Given the description of an element on the screen output the (x, y) to click on. 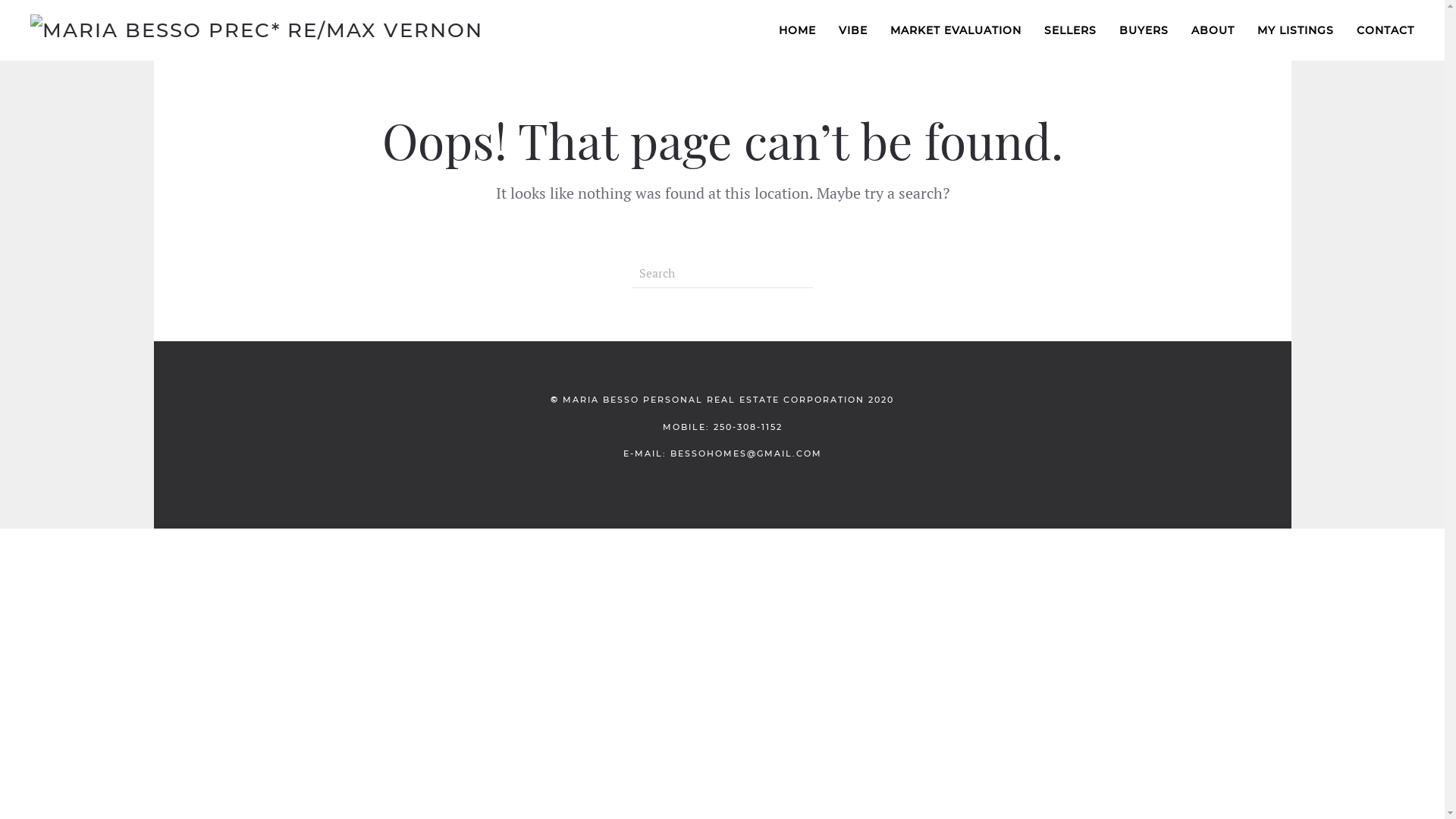
ABOUT Element type: text (1212, 30)
VIBE Element type: text (852, 30)
MARKET EVALUATION Element type: text (955, 30)
SELLERS Element type: text (1069, 30)
CONTACT Element type: text (1385, 30)
HOME Element type: text (797, 30)
MY LISTINGS Element type: text (1295, 30)
BUYERS Element type: text (1143, 30)
